Given the description of an element on the screen output the (x, y) to click on. 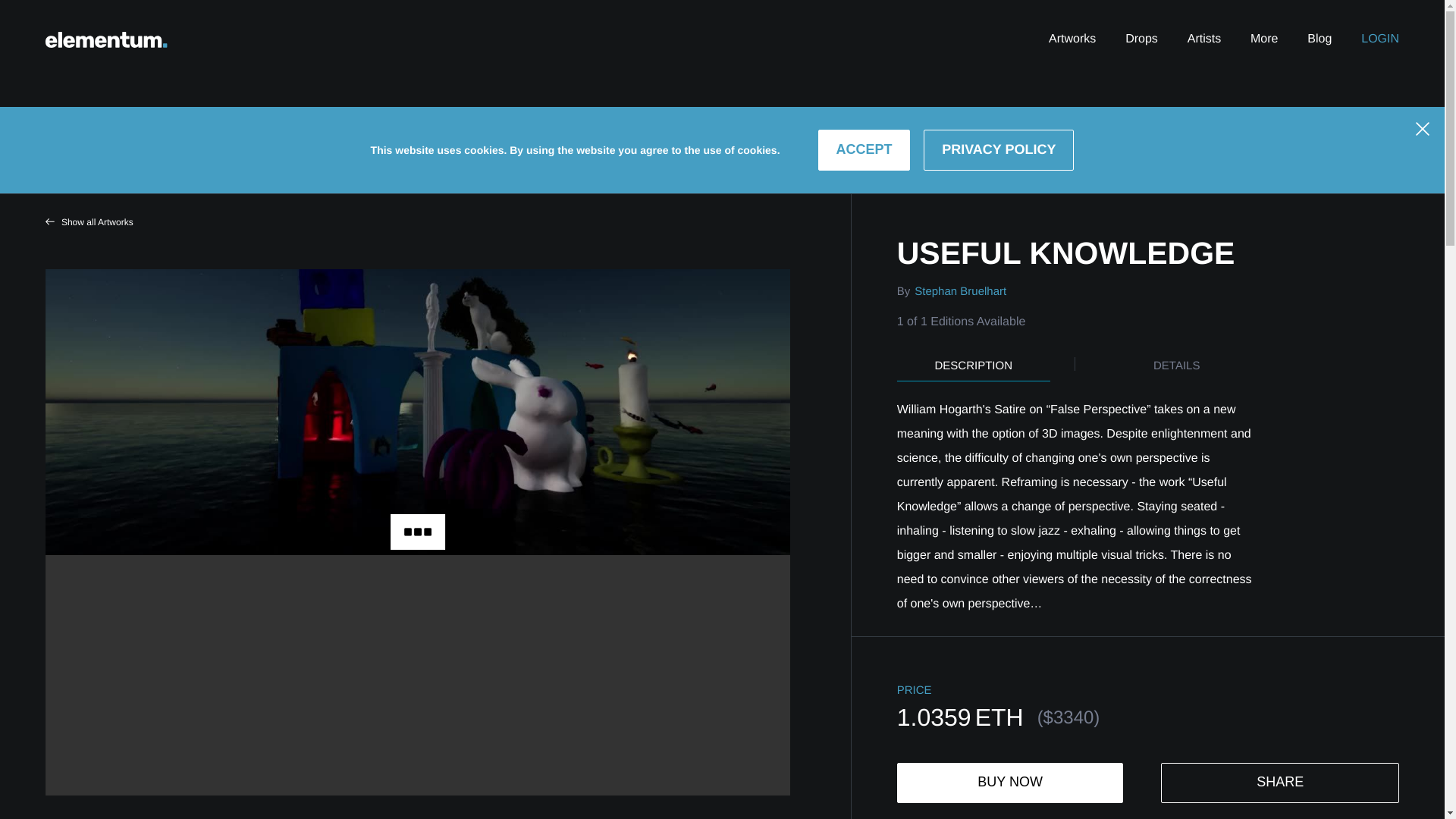
Artworks (1072, 39)
Stephan Bruelhart (958, 291)
SHARE (1279, 782)
More (1264, 39)
Show all Artworks (89, 221)
Drops (1141, 39)
Useful Knowledge (1125, 253)
BUY NOW (1010, 782)
ACCEPT (864, 149)
PRIVACY POLICY (998, 149)
LOGIN (1380, 39)
Blog (1319, 39)
Artists (1204, 39)
